Given the description of an element on the screen output the (x, y) to click on. 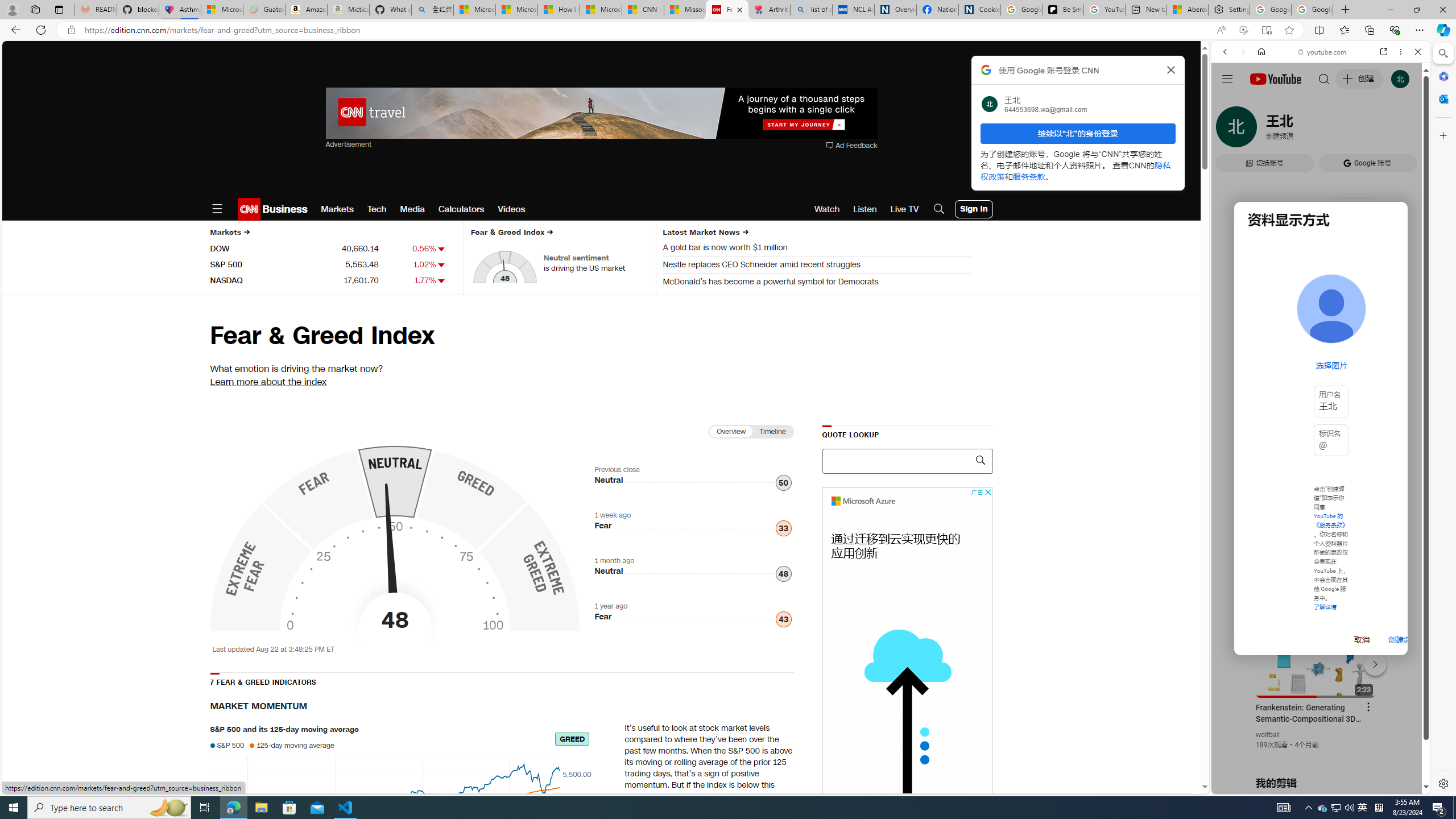
Videos (511, 209)
Listen (864, 208)
Open Menu Icon (216, 208)
Nestle replaces CEO Schneider amid recent struggles (816, 266)
you (1315, 755)
list of asthma inhalers uk - Search (810, 9)
Music (1320, 309)
Cookies (979, 9)
